Given the description of an element on the screen output the (x, y) to click on. 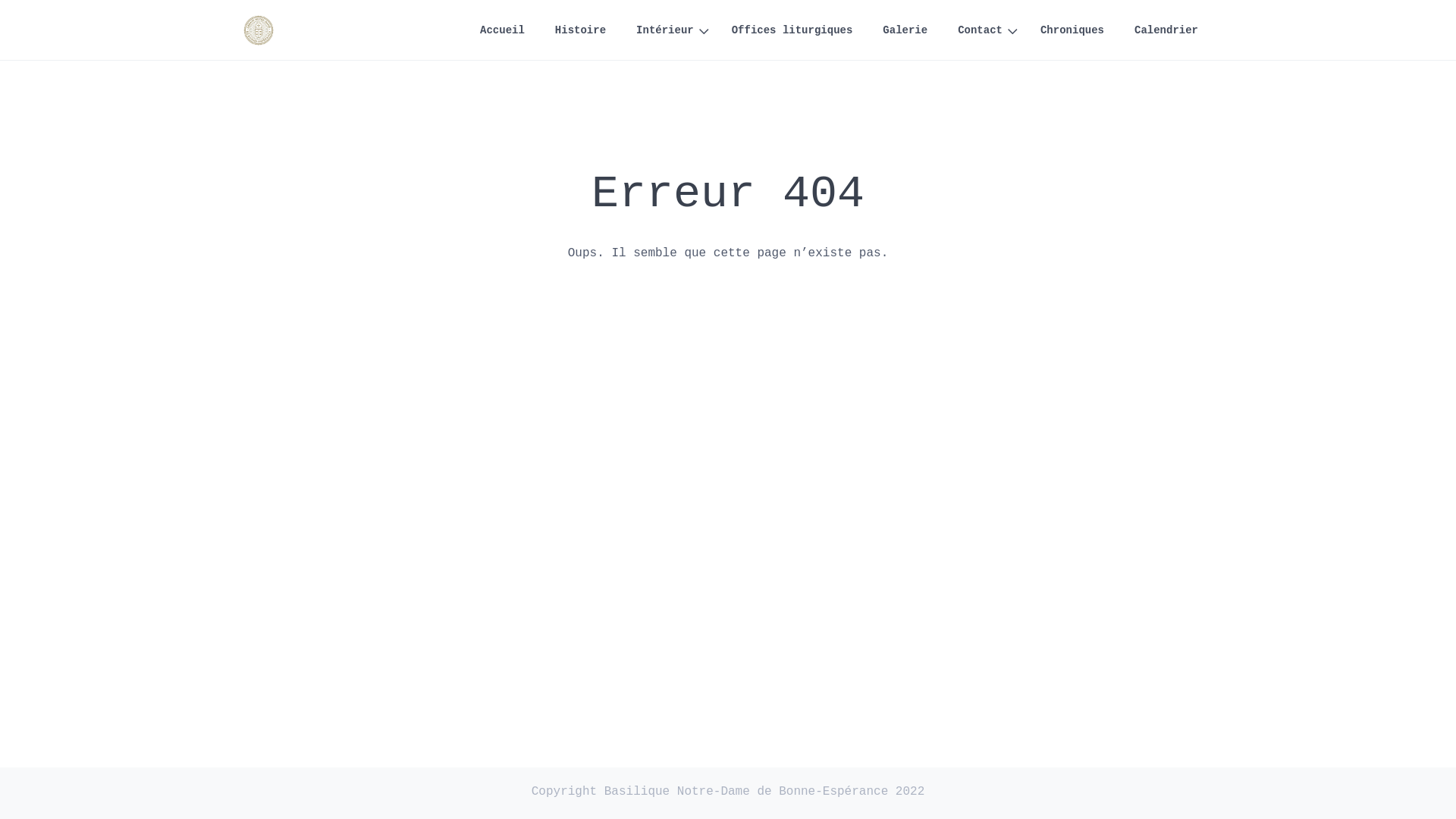
Offices liturgiques Element type: text (792, 29)
Accueil Element type: text (501, 29)
Chroniques Element type: text (1072, 29)
Calendrier Element type: text (1166, 29)
Galerie Element type: text (904, 29)
Histoire Element type: text (580, 29)
Contact Element type: text (983, 29)
